Given the description of an element on the screen output the (x, y) to click on. 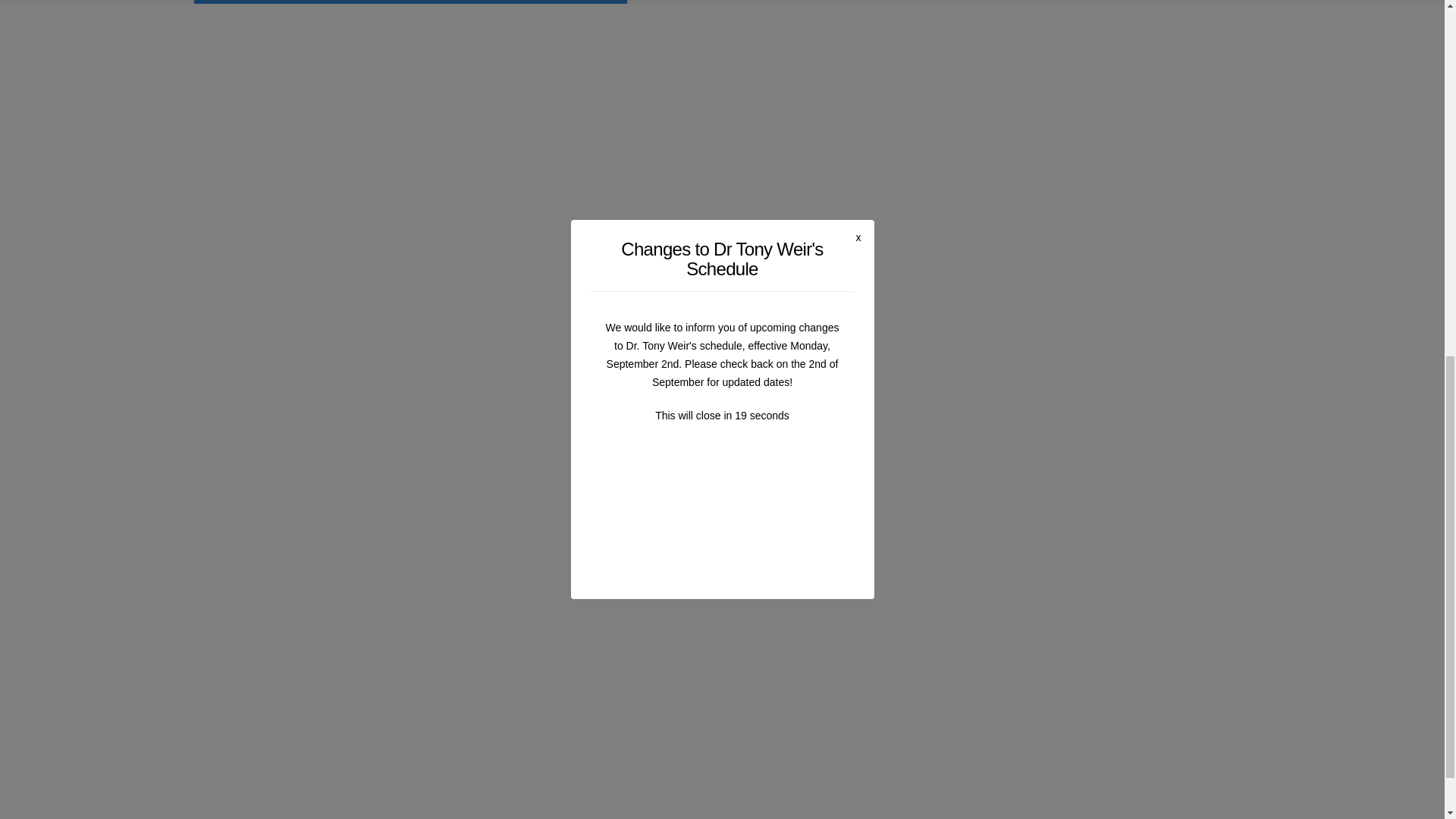
Post Comment (328, 723)
Post Comment (328, 723)
NEXT (866, 283)
PREVIOUS (328, 283)
yes (268, 689)
contact  (502, 188)
